Given the description of an element on the screen output the (x, y) to click on. 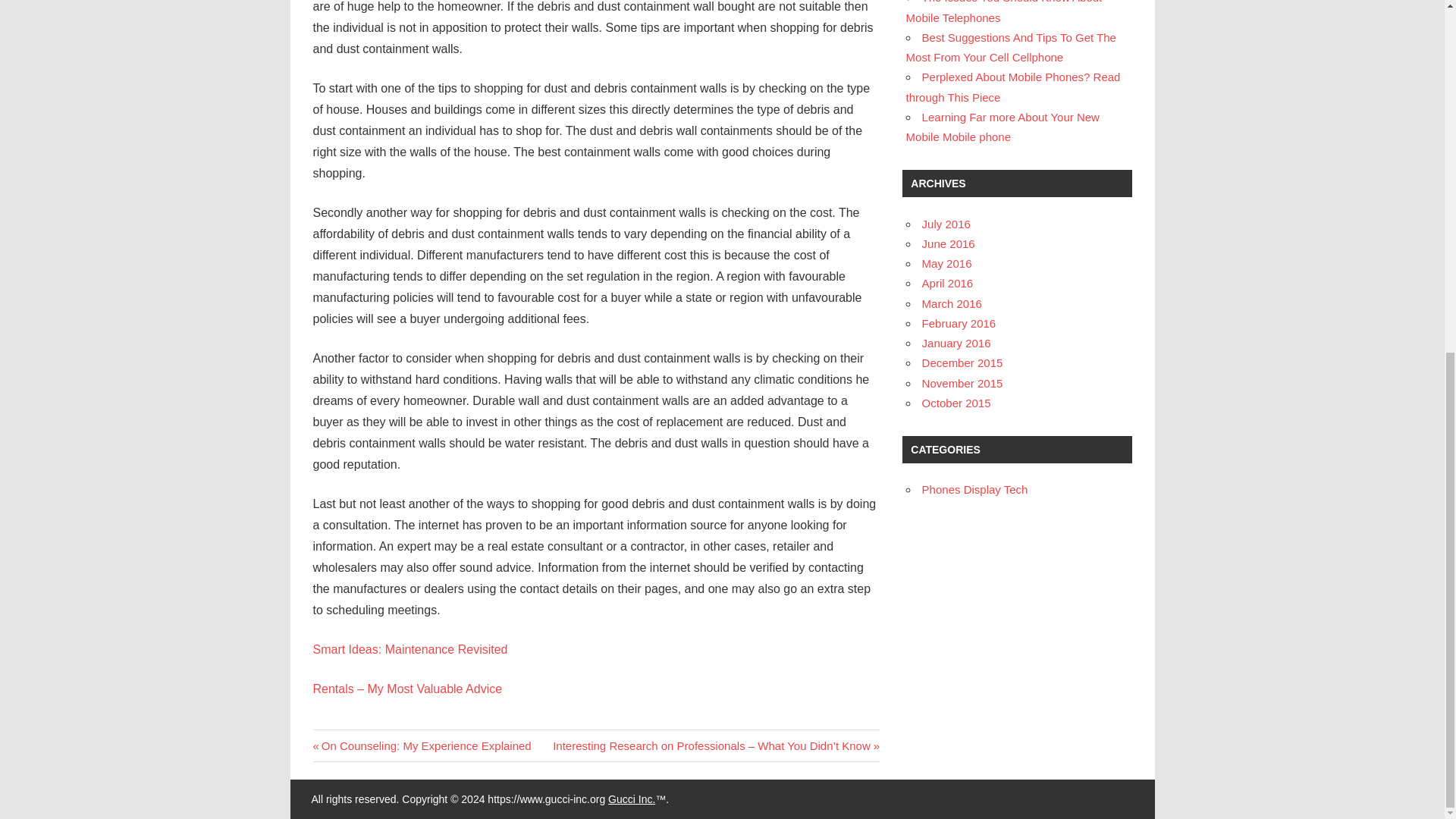
Phones Display Tech (974, 489)
January 2016 (956, 342)
June 2016 (948, 243)
December 2015 (962, 362)
February 2016 (958, 323)
Perplexed About Mobile Phones? Read through This Piece (1013, 86)
October 2015 (956, 402)
Smart Ideas: Maintenance Revisited (409, 649)
Gucci Inc. (631, 799)
November 2015 (962, 382)
